Given the description of an element on the screen output the (x, y) to click on. 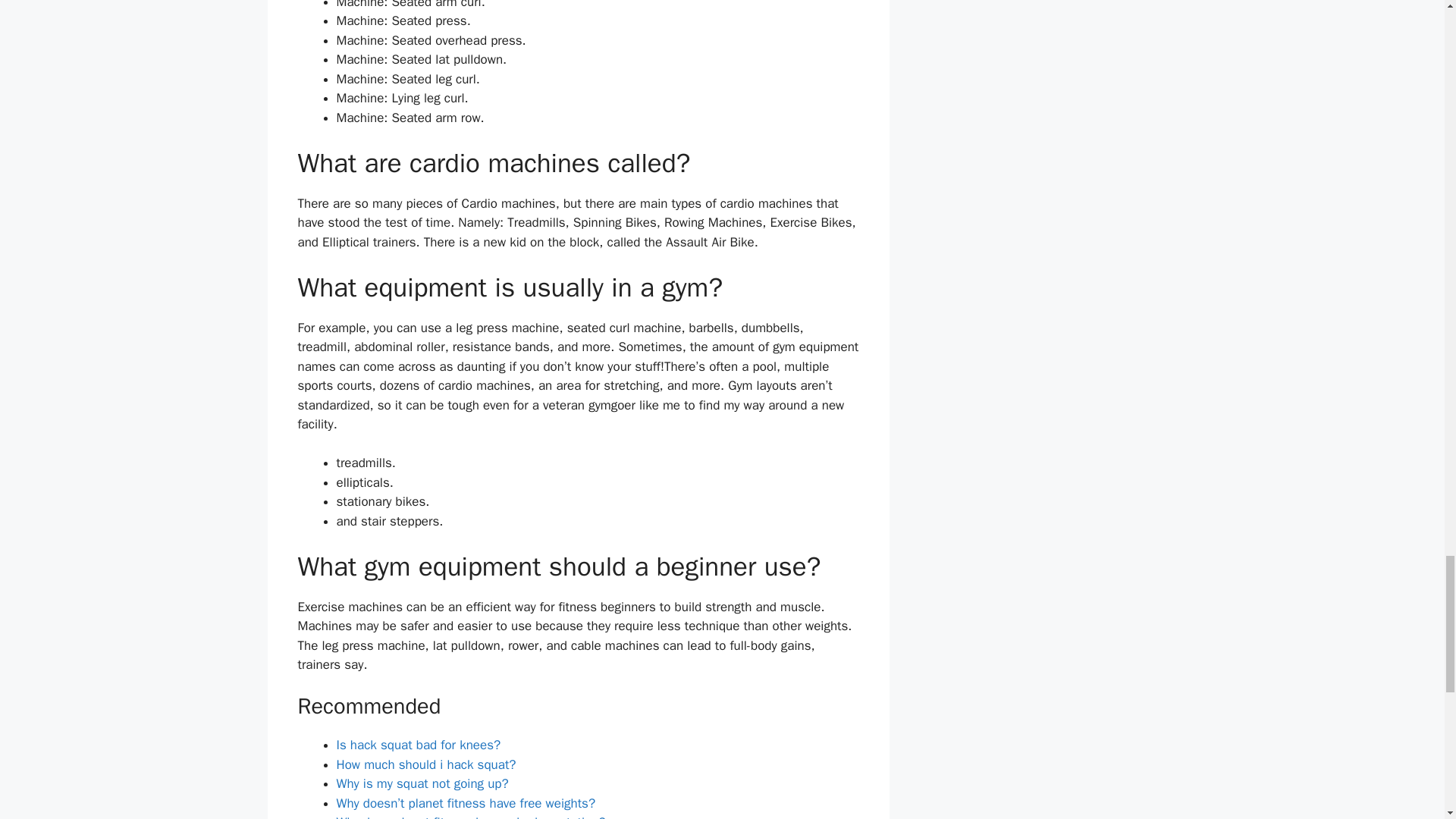
Why is my squat not going up? (422, 783)
Why does planet fitness have a bad reputation? (470, 816)
How much should i hack squat? (426, 764)
Is hack squat bad for knees? (418, 744)
